Given the description of an element on the screen output the (x, y) to click on. 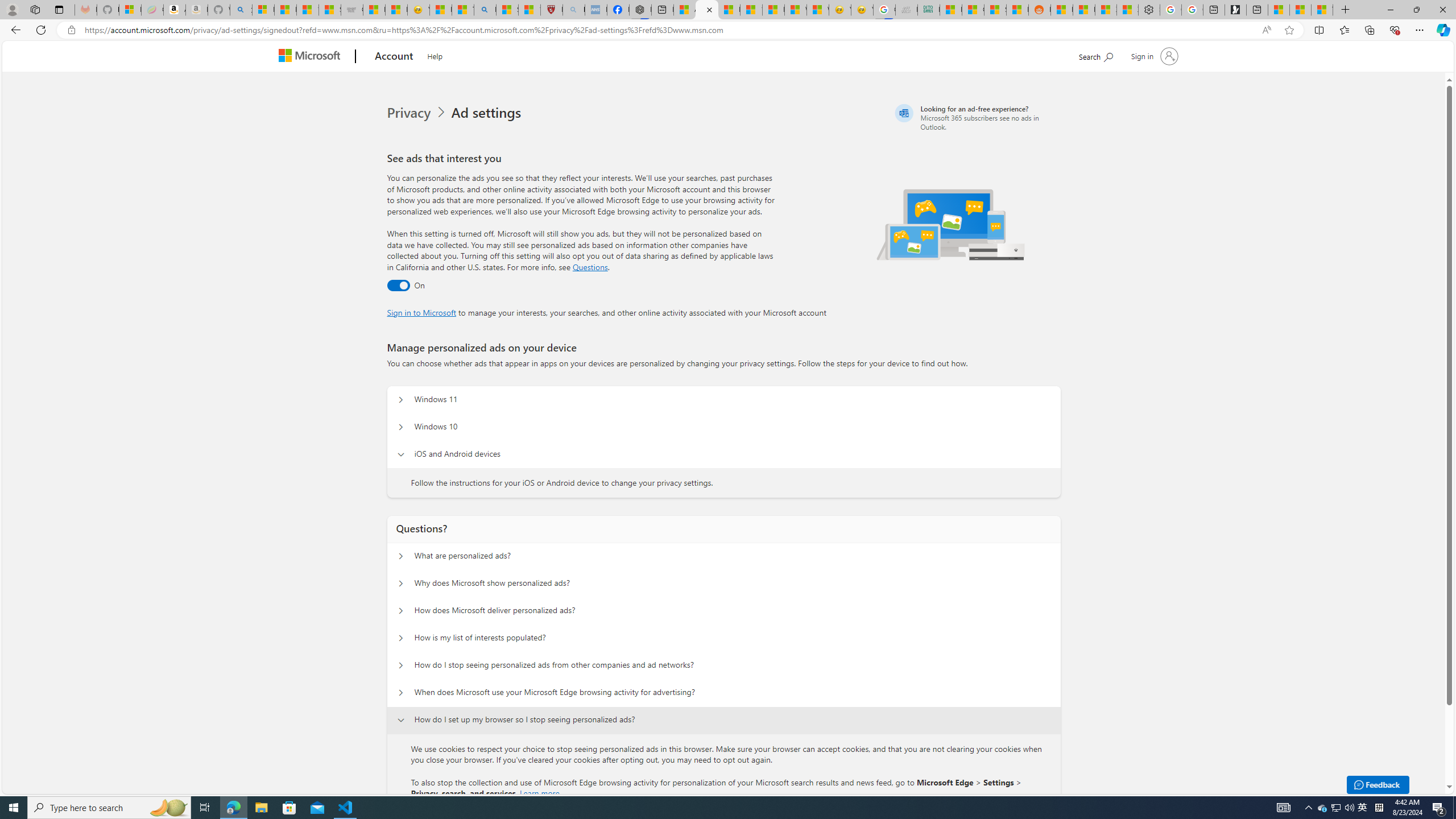
R******* | Trusted Community Engagement and Contributions (1061, 9)
Microsoft (311, 56)
